Given the description of an element on the screen output the (x, y) to click on. 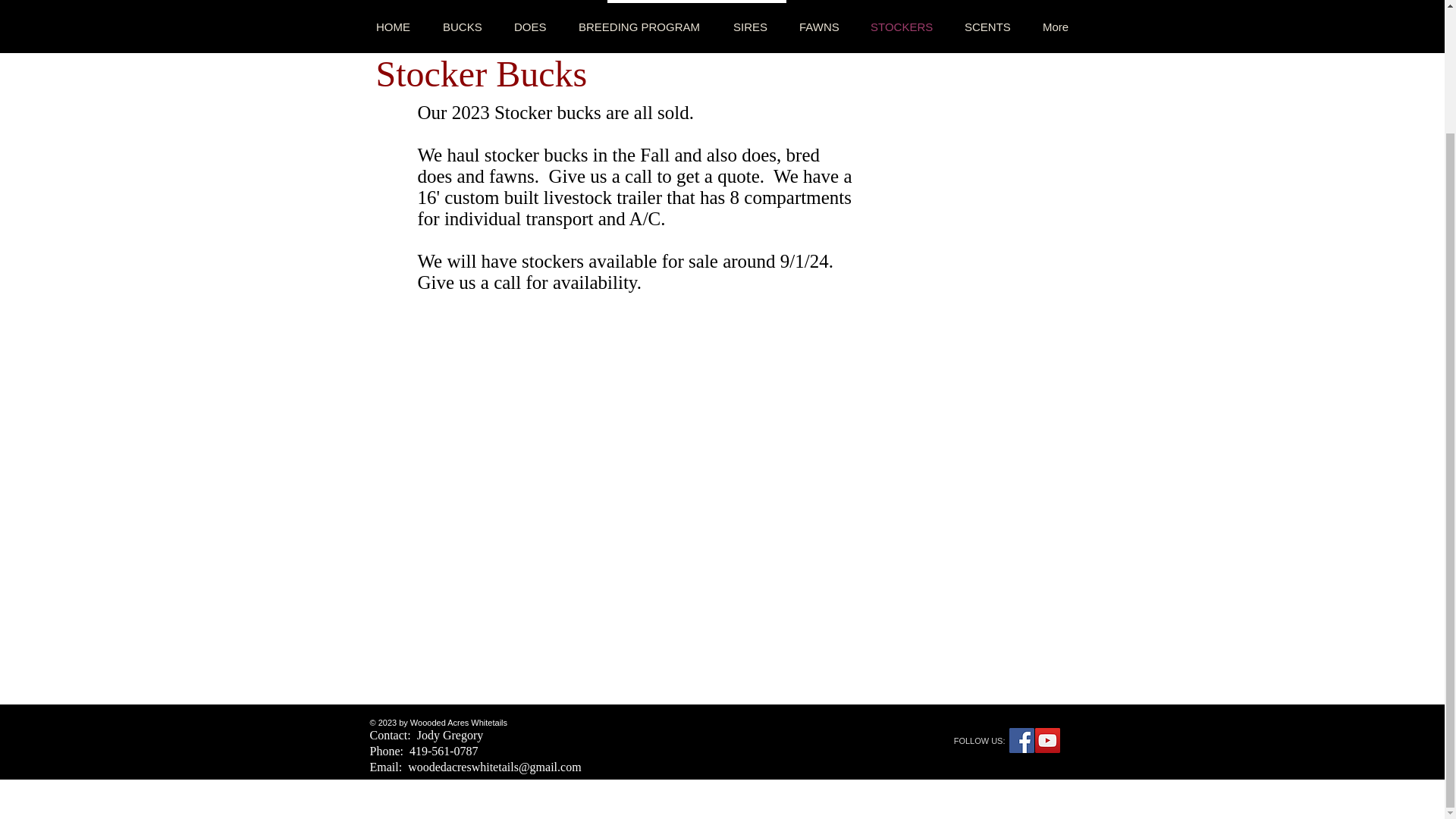
STOCKERS (901, 26)
SCENTS (987, 26)
BUCKS (461, 26)
SIRES (750, 26)
HOME (392, 26)
BREEDING PROGRAM (639, 26)
DOES (529, 26)
FAWNS (818, 26)
